Given the description of an element on the screen output the (x, y) to click on. 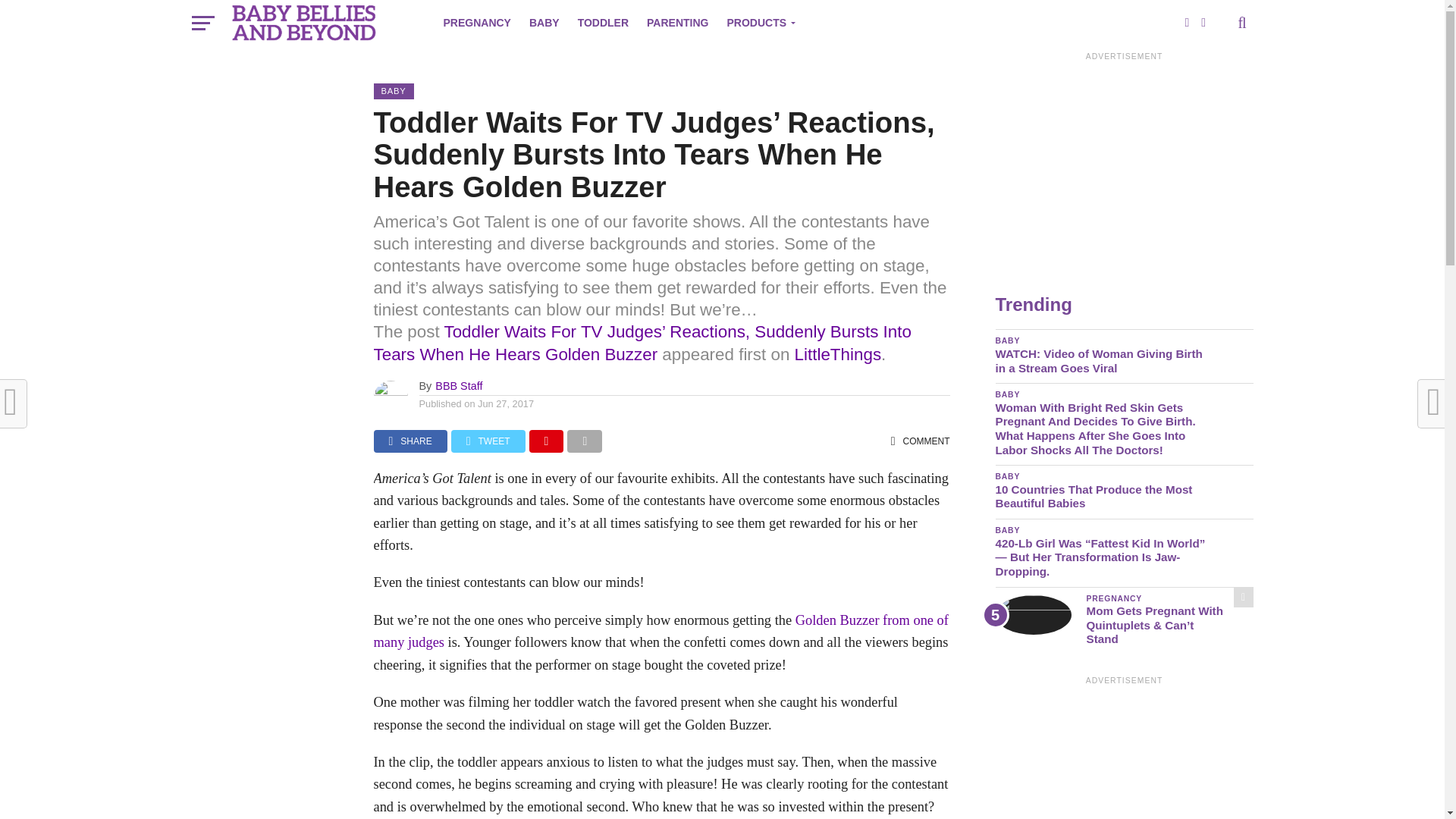
PARENTING (677, 22)
PRODUCTS (758, 22)
PREGNANCY (476, 22)
Baby Gear (758, 22)
TODDLER (603, 22)
Toddlers (603, 22)
Baby (544, 22)
BABY (544, 22)
Parenting (677, 22)
